Given the description of an element on the screen output the (x, y) to click on. 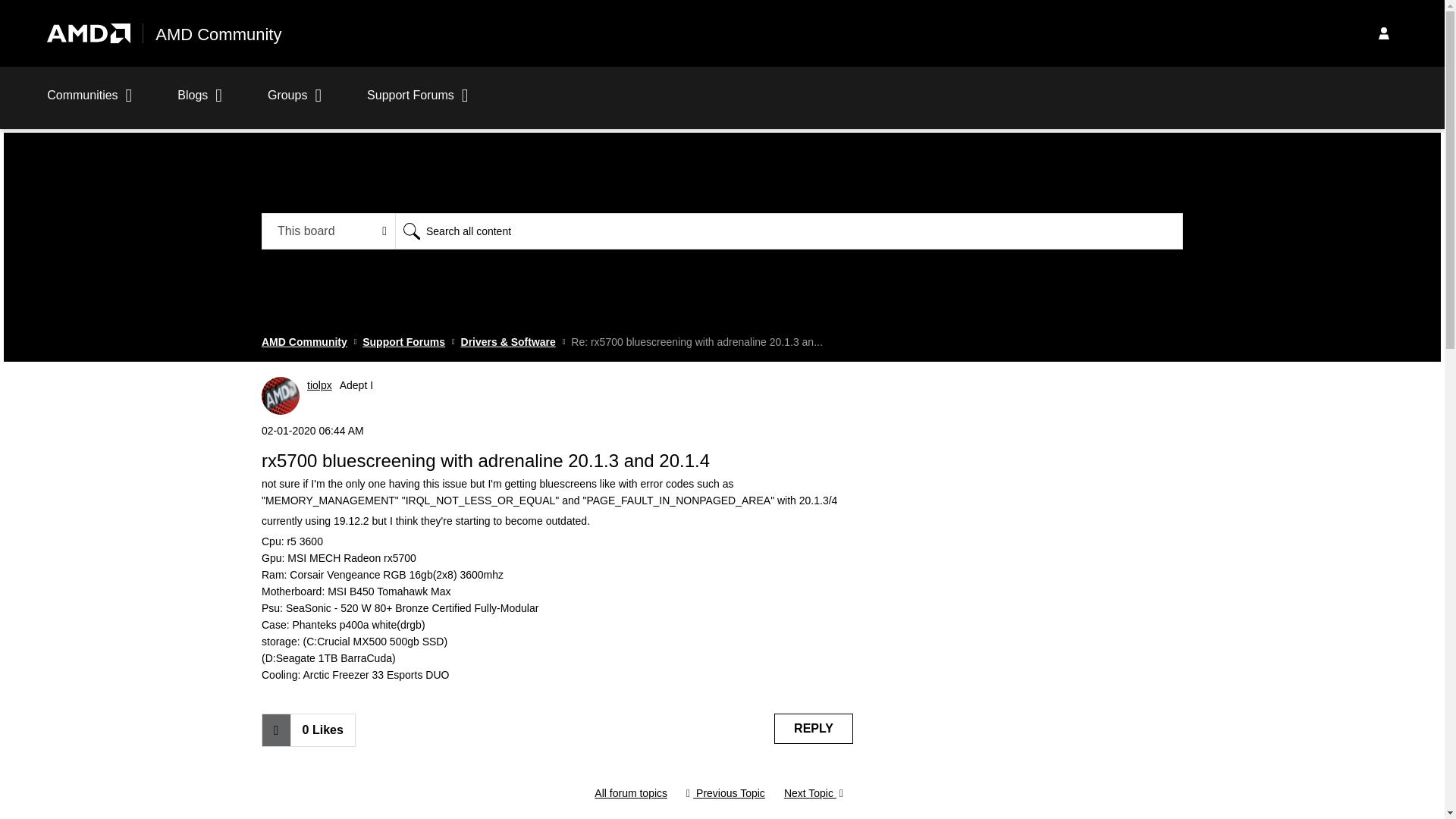
Support Forums (416, 103)
AMD Community (304, 341)
Blogs (199, 103)
Search (411, 230)
AMD Logo (88, 32)
Communities (89, 103)
Posted on (557, 430)
tiolpx (280, 395)
Search (411, 230)
Support Forums (403, 341)
